Given the description of an element on the screen output the (x, y) to click on. 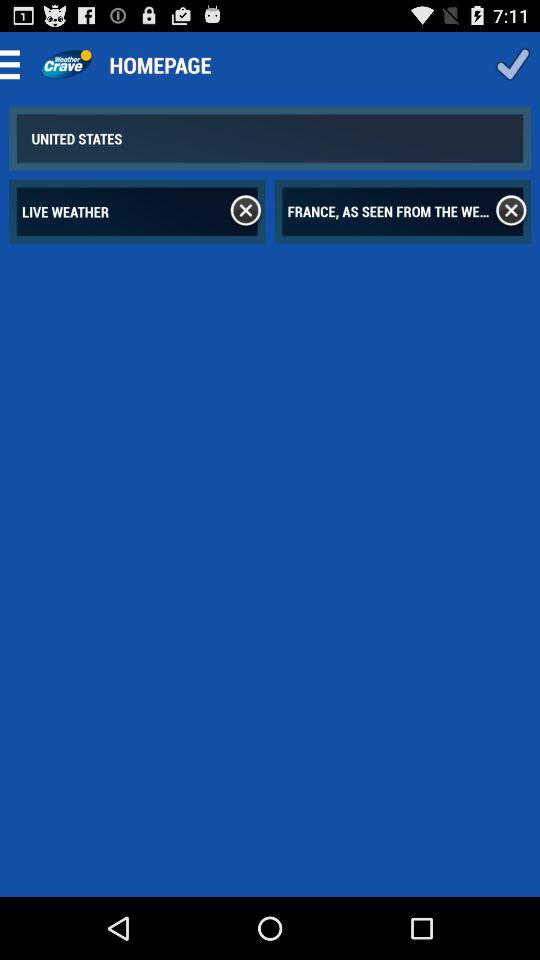
choose the item next to the homepage item (512, 64)
